Given the description of an element on the screen output the (x, y) to click on. 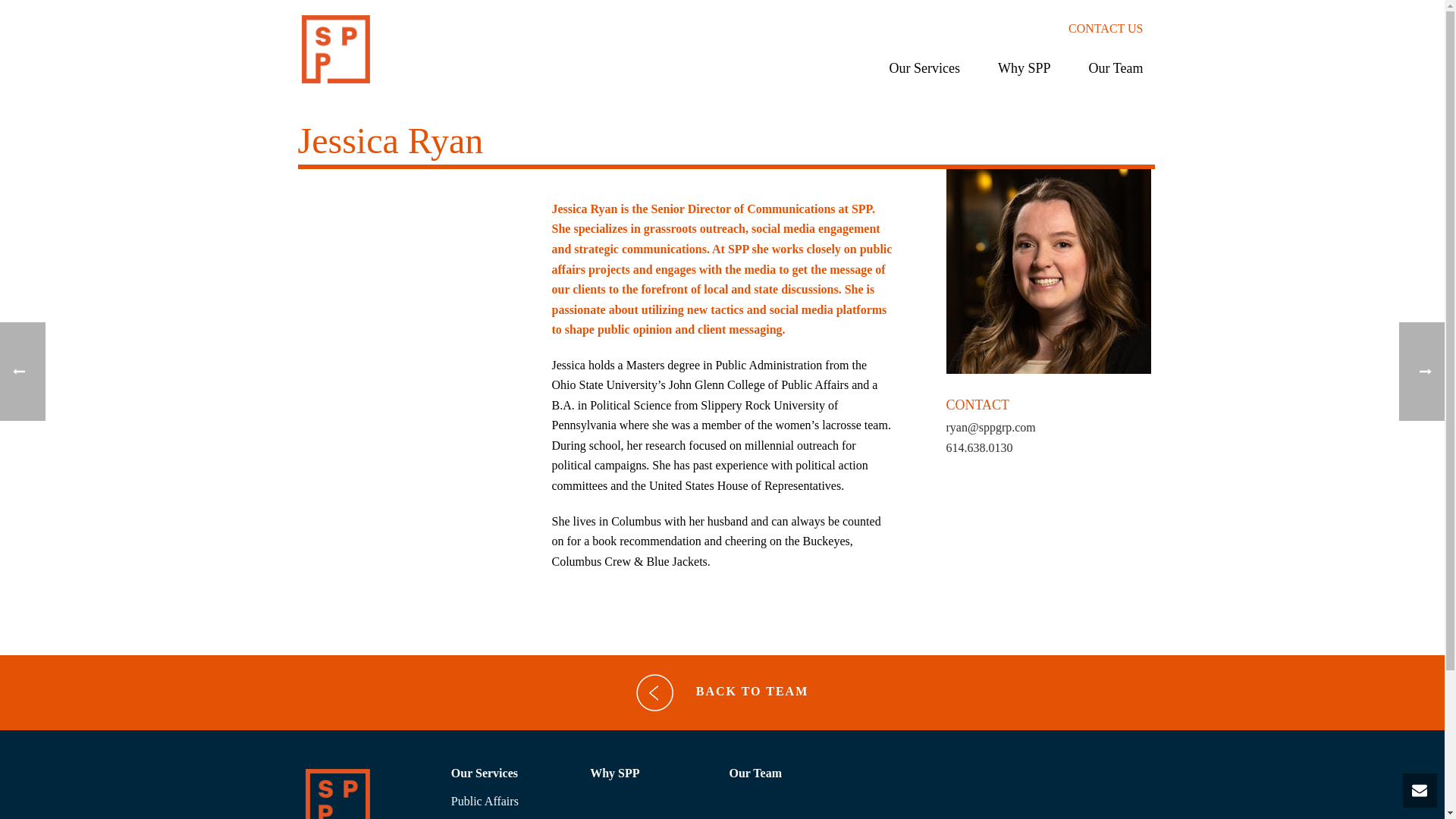
Strategic Public Partners (335, 49)
Our Services (924, 75)
Why SPP (1024, 75)
icon-three-people (336, 794)
Our Services (924, 75)
Jessica Ryan (1048, 270)
Our Team (1115, 75)
Why SPP (1024, 75)
CONTACT US (1105, 28)
Our Team (1115, 75)
